Given the description of an element on the screen output the (x, y) to click on. 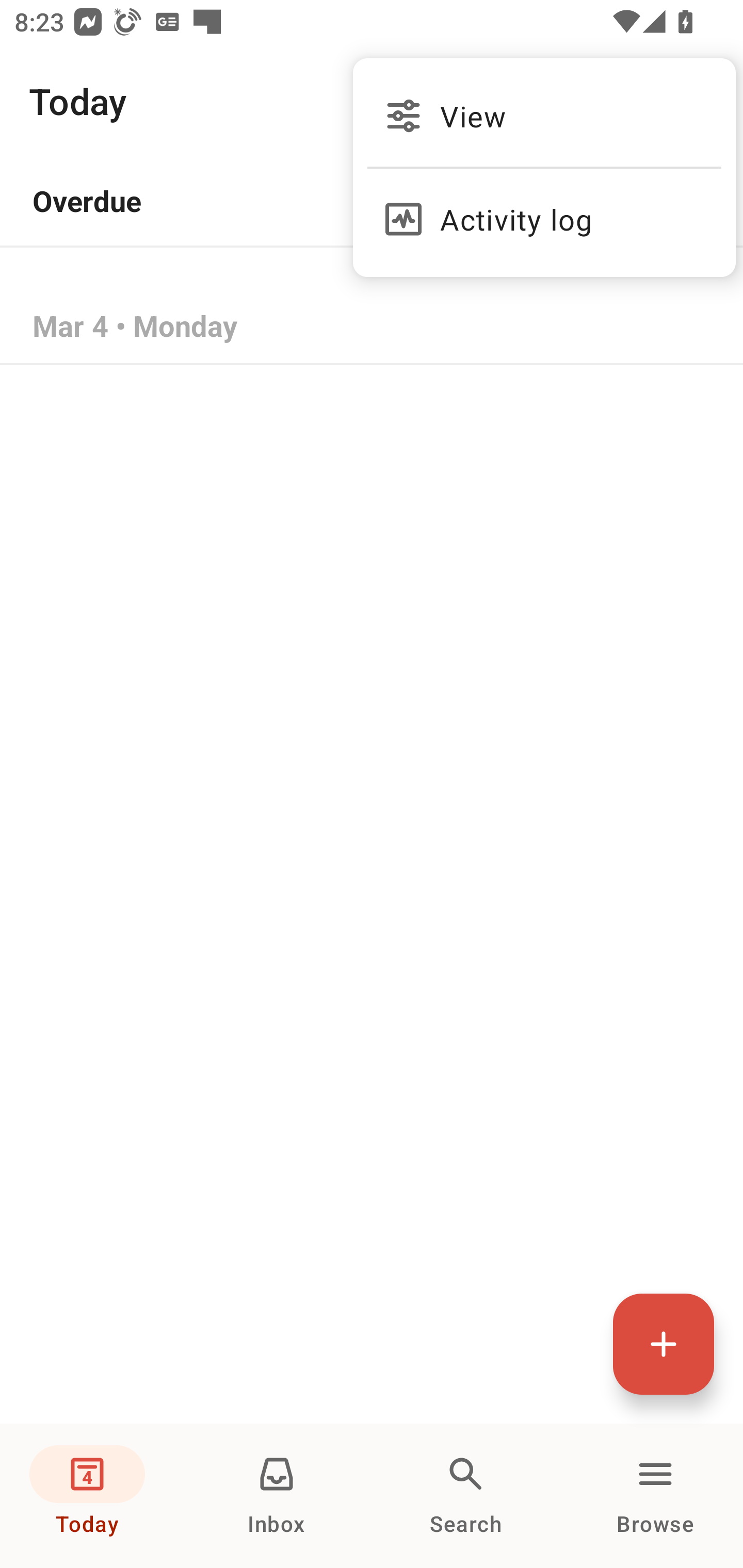
View (544, 115)
Activity log (544, 210)
